Given the description of an element on the screen output the (x, y) to click on. 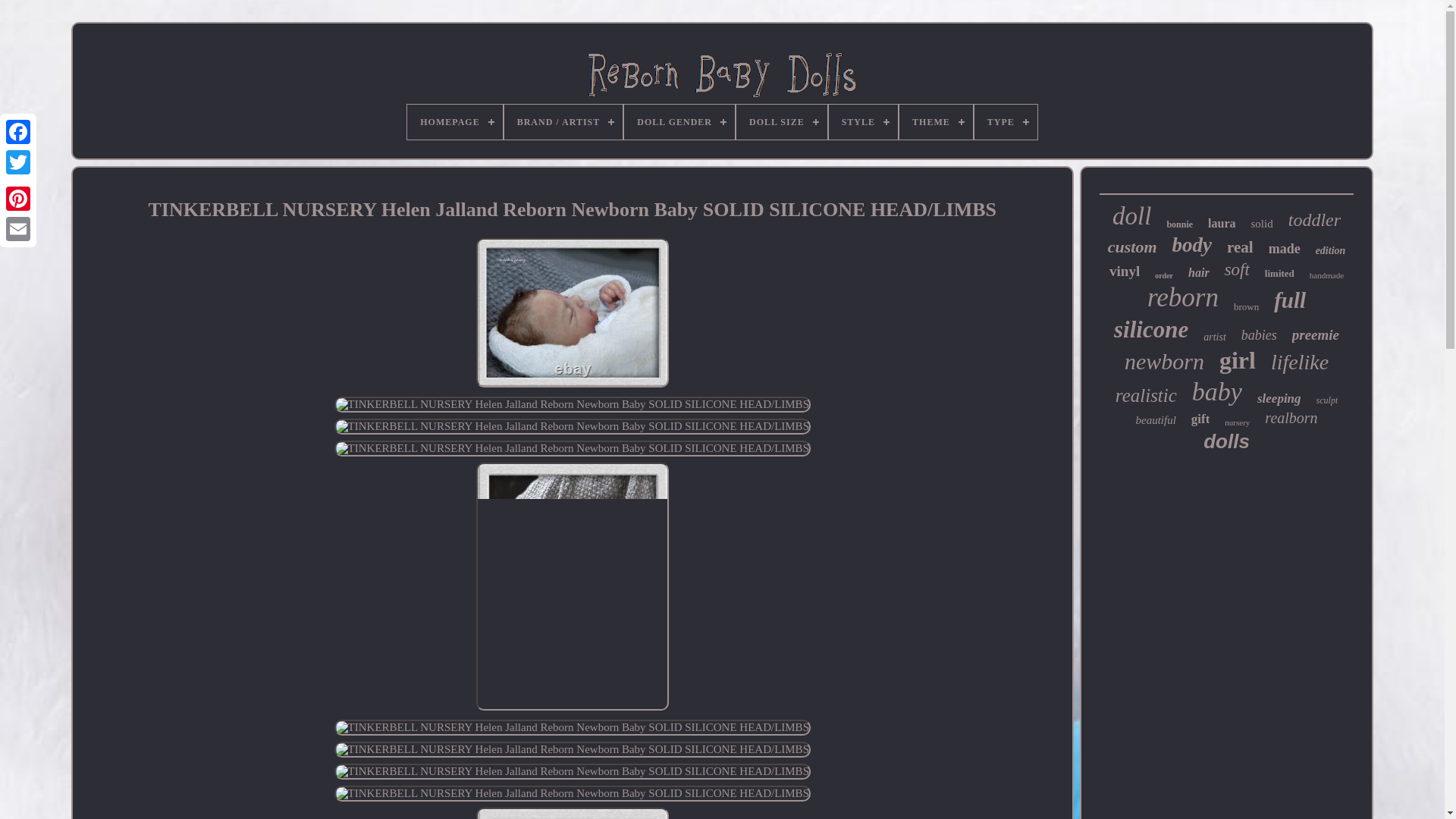
Twitter (17, 162)
DOLL GENDER (679, 121)
HOMEPAGE (454, 121)
